Given the description of an element on the screen output the (x, y) to click on. 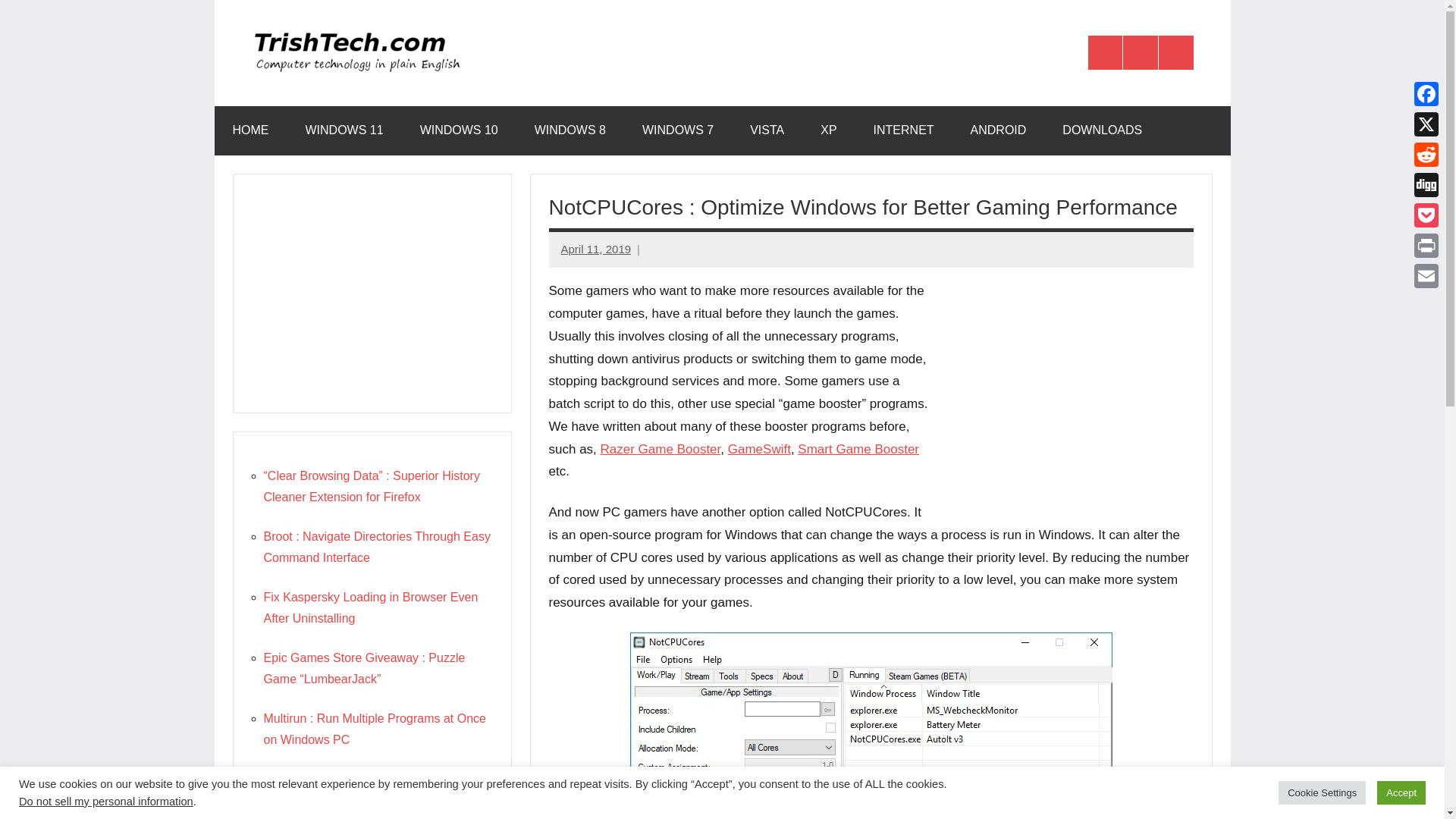
X (1425, 123)
WINDOWS 11 (343, 130)
Advertisement (1066, 391)
YouTube (1175, 53)
XP (828, 130)
Multirun : Run Multiple Programs at Once on Windows PC (374, 728)
VISTA (767, 130)
Broot : Navigate Directories Through Easy Command Interface (376, 546)
WINDOWS 7 (678, 130)
Razer Game Booster (659, 449)
